Given the description of an element on the screen output the (x, y) to click on. 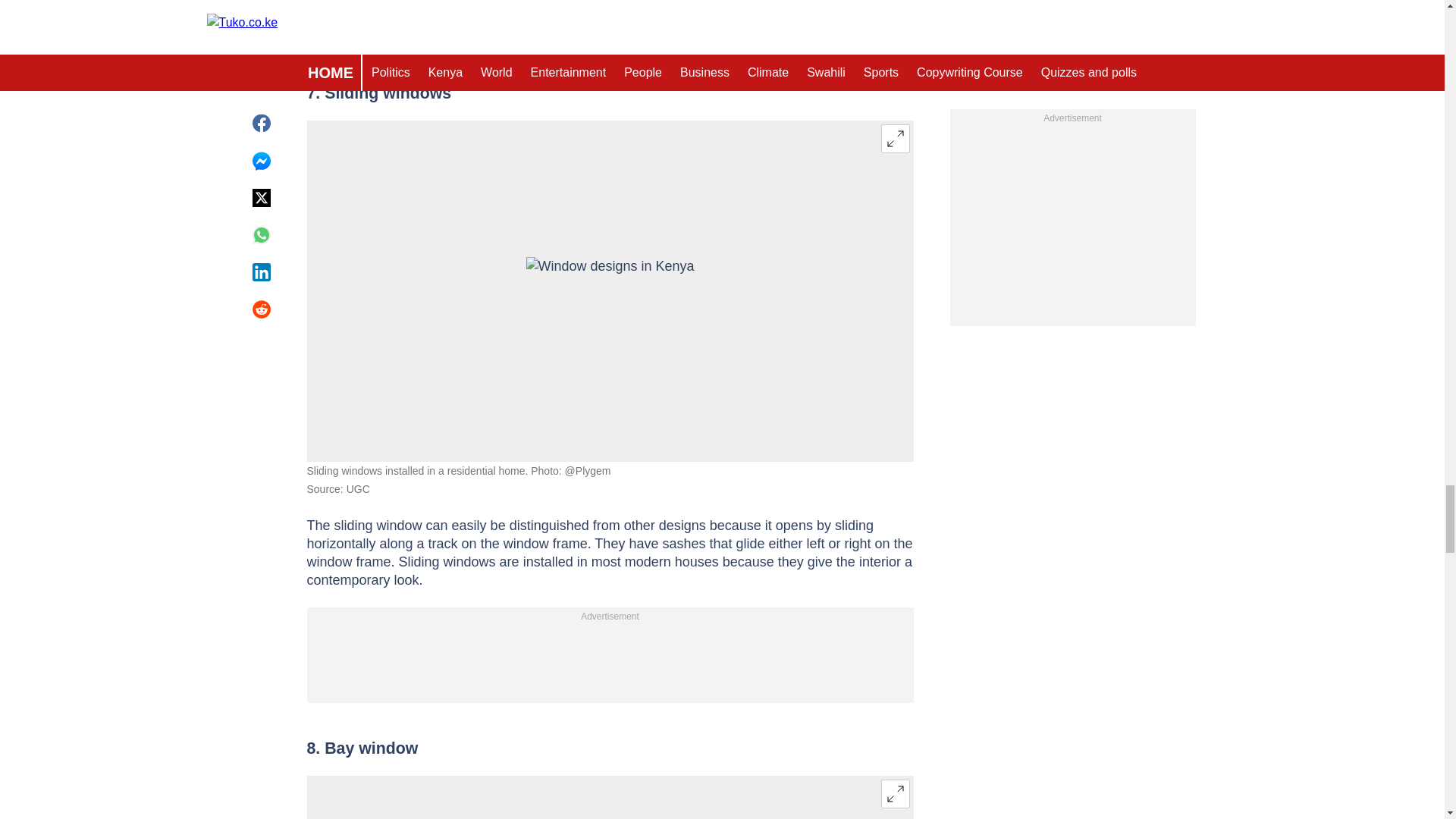
Expand image (895, 138)
Expand image (895, 793)
Window designs in Kenya (609, 291)
